Given the description of an element on the screen output the (x, y) to click on. 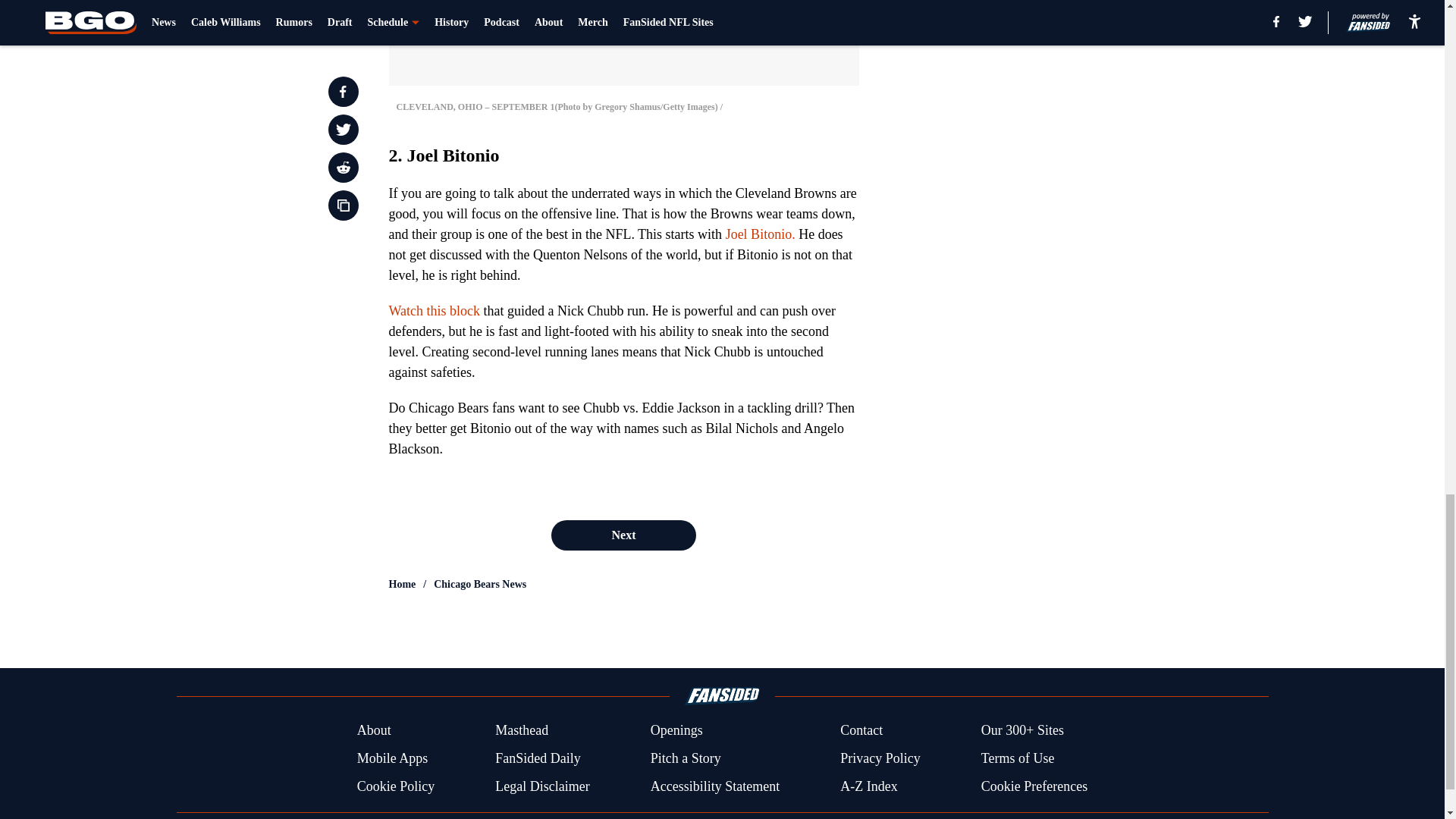
Home (401, 584)
Contact (861, 730)
FanSided Daily (537, 758)
Pitch a Story (685, 758)
Privacy Policy (880, 758)
Watch this block (434, 310)
Masthead (521, 730)
Openings (676, 730)
About (373, 730)
Chicago Bears News (479, 584)
Next (622, 535)
Joel Bitonio. (759, 233)
Mobile Apps (392, 758)
